Given the description of an element on the screen output the (x, y) to click on. 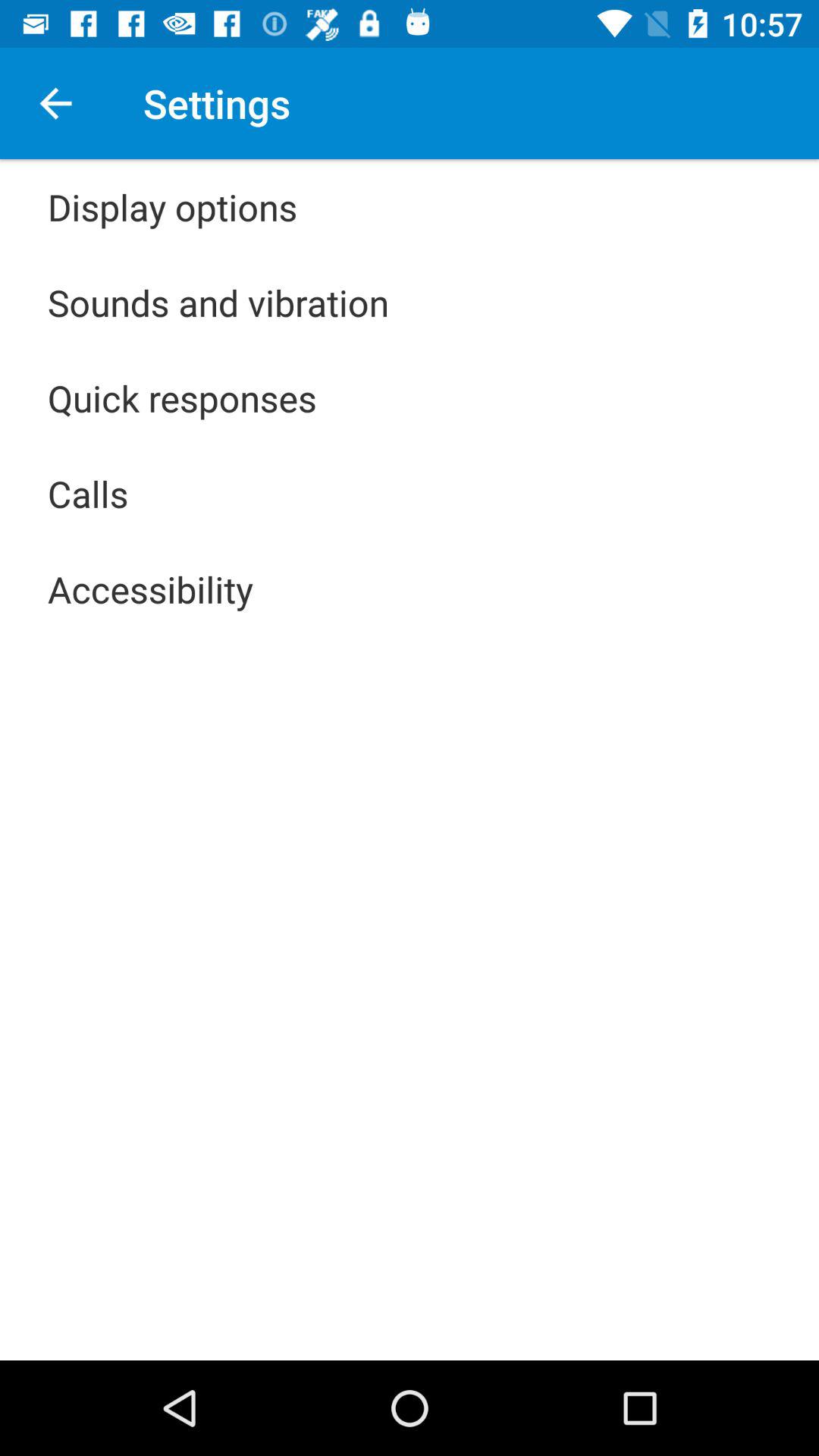
open icon above display options item (55, 103)
